Given the description of an element on the screen output the (x, y) to click on. 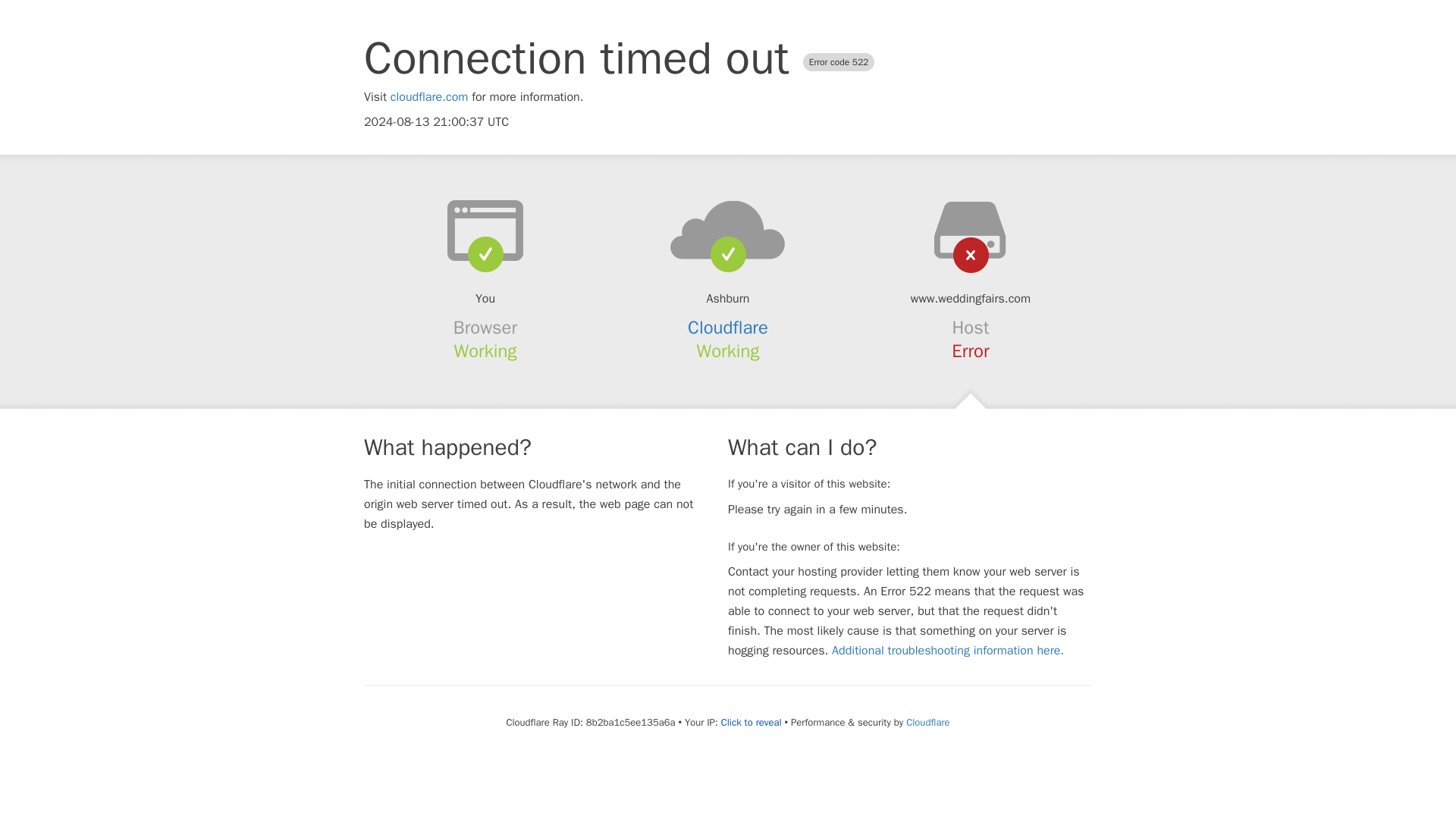
cloudflare.com (429, 96)
Cloudflare (927, 721)
Cloudflare (727, 327)
Click to reveal (750, 722)
Additional troubleshooting information here. (947, 650)
